Given the description of an element on the screen output the (x, y) to click on. 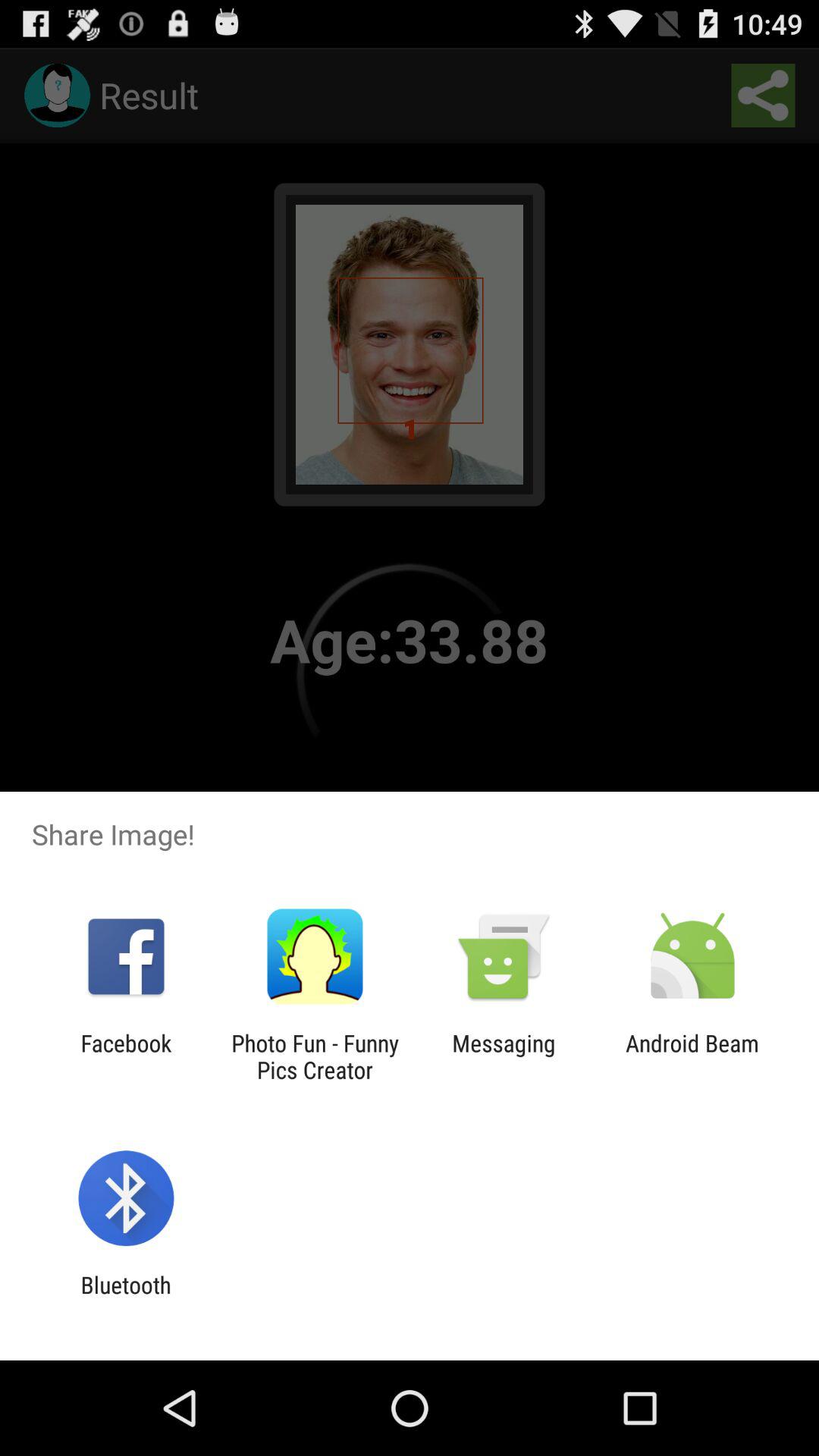
turn off photo fun funny (314, 1056)
